Given the description of an element on the screen output the (x, y) to click on. 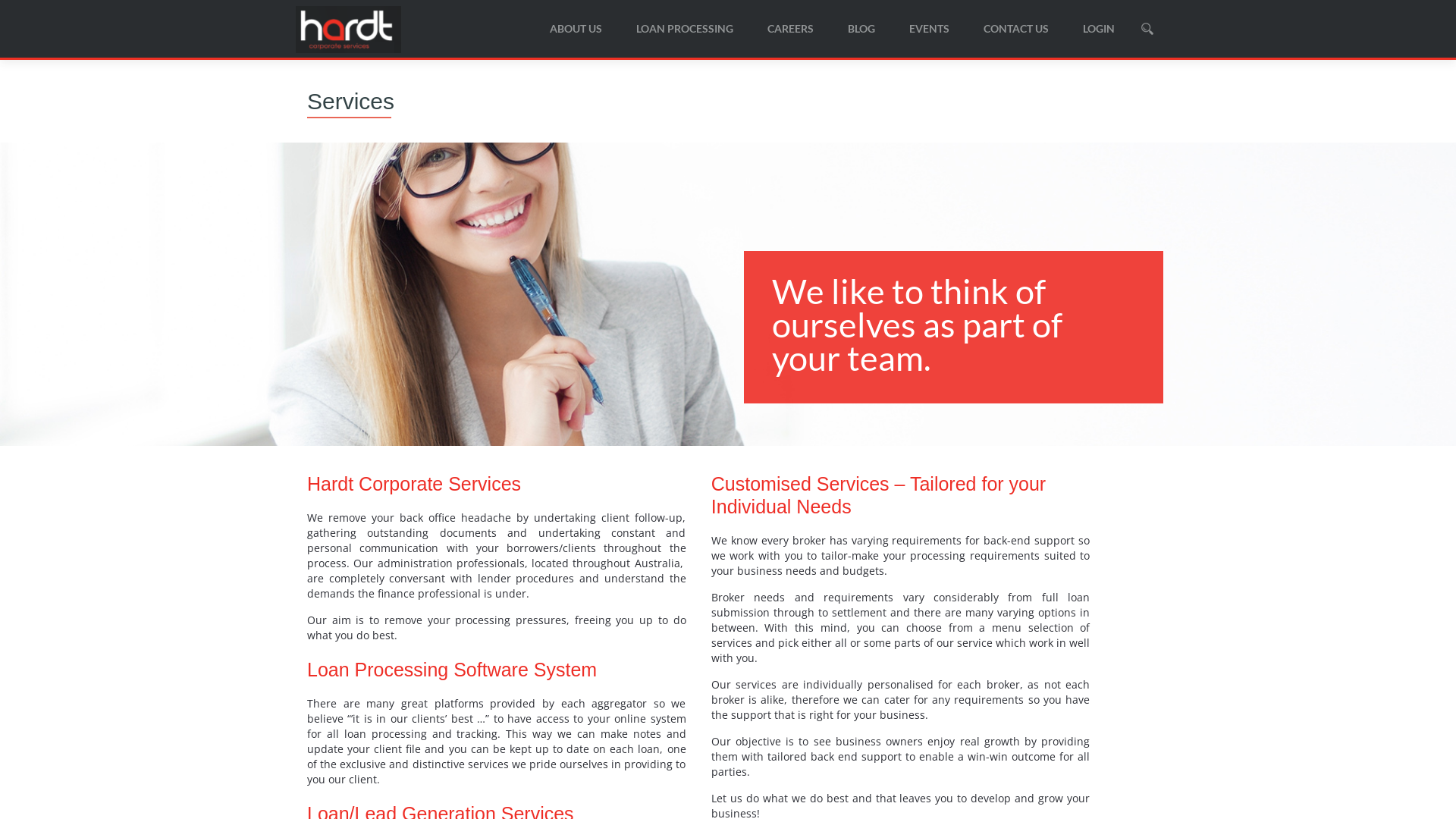
BLOG Element type: text (861, 28)
LOAN PROCESSING Element type: text (684, 28)
LOGIN Element type: text (1098, 28)
CAREERS Element type: text (790, 28)
EVENTS Element type: text (929, 28)
Search Element type: text (937, 79)
ABOUT US Element type: text (575, 28)
CONTACT US Element type: text (1015, 28)
